Given the description of an element on the screen output the (x, y) to click on. 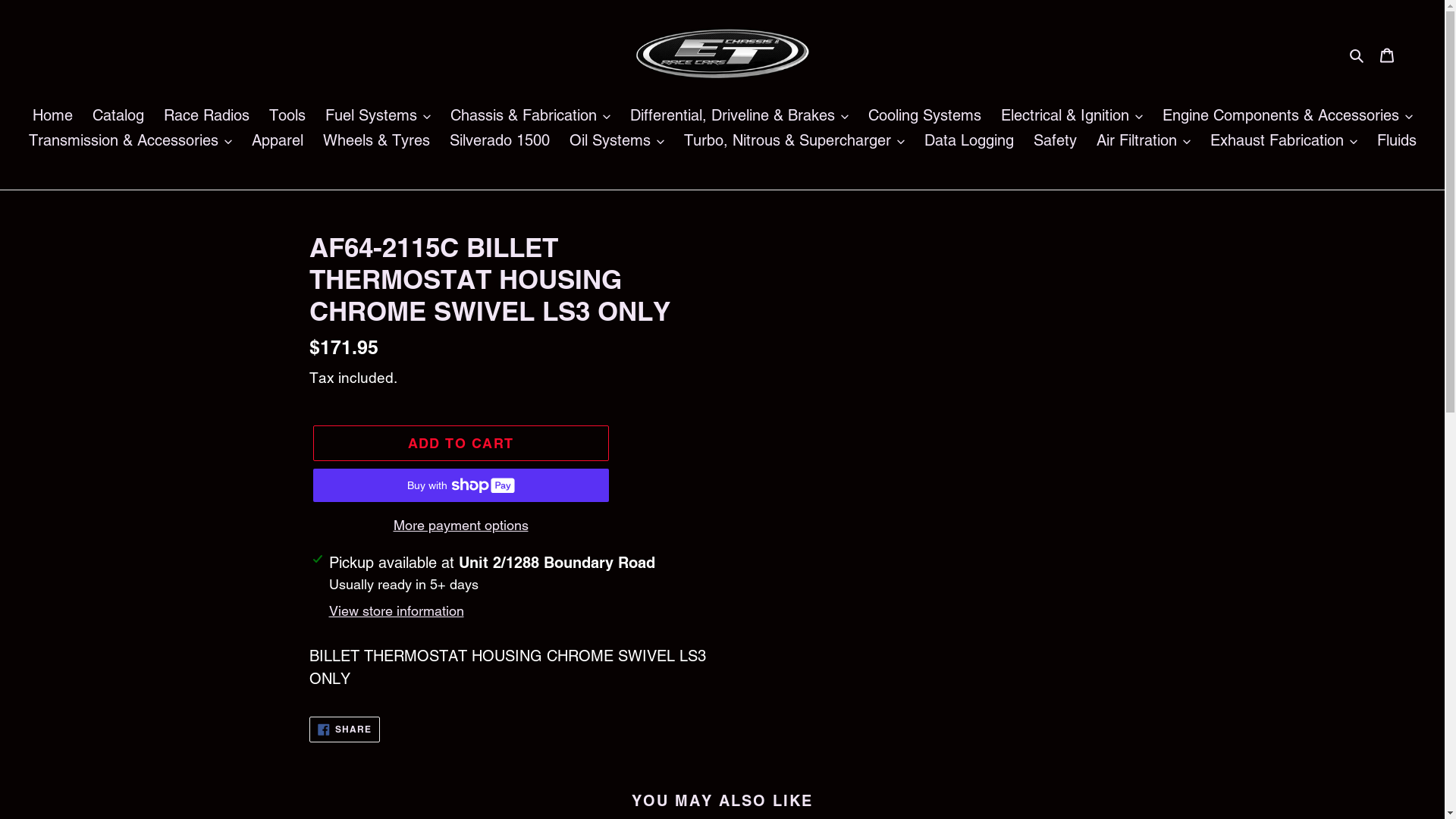
Cart Element type: text (1386, 53)
Home Element type: text (51, 115)
View store information Element type: text (396, 610)
Exhaust Fabrication Element type: text (1283, 140)
More payment options Element type: text (460, 525)
Transmission & Accessories Element type: text (130, 140)
Cooling Systems Element type: text (923, 115)
Wheels & Tyres Element type: text (376, 140)
Race Radios Element type: text (206, 115)
Oil Systems Element type: text (616, 140)
Fluids Element type: text (1396, 140)
Safety Element type: text (1054, 140)
Turbo, Nitrous & Supercharger Element type: text (794, 140)
Fuel Systems Element type: text (376, 115)
Tools Element type: text (286, 115)
Search Element type: text (1357, 53)
Differential, Driveline & Brakes Element type: text (738, 115)
ADD TO CART Element type: text (460, 443)
Chassis & Fabrication Element type: text (530, 115)
SHARE
SHARE ON FACEBOOK Element type: text (344, 729)
Electrical & Ignition Element type: text (1071, 115)
Silverado 1500 Element type: text (498, 140)
Air Filtration Element type: text (1143, 140)
Catalog Element type: text (117, 115)
Apparel Element type: text (277, 140)
Data Logging Element type: text (968, 140)
Engine Components & Accessories Element type: text (1286, 115)
